Given the description of an element on the screen output the (x, y) to click on. 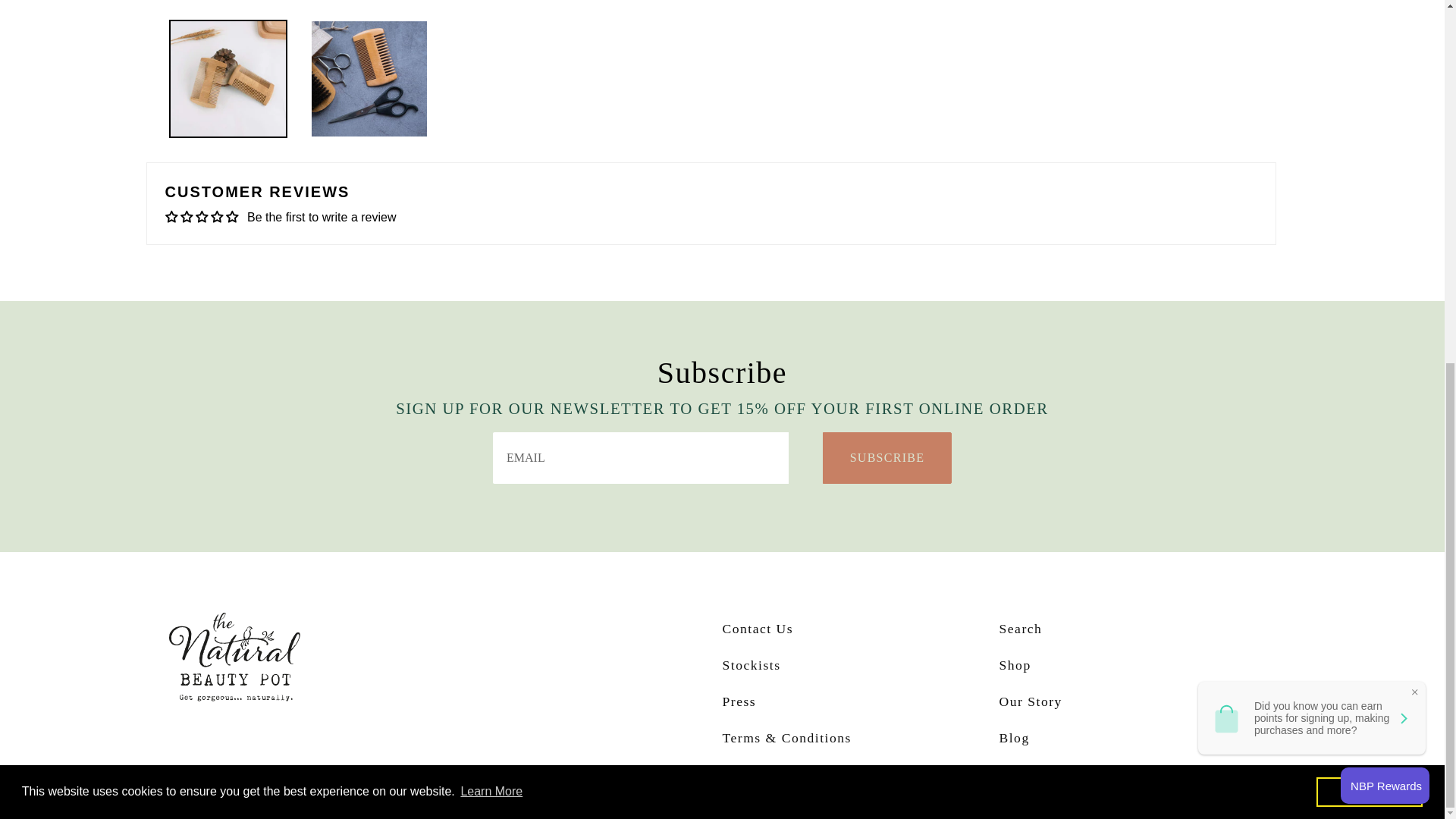
SUBSCRIBE (887, 458)
LoyaltyLion beacon (1384, 137)
Stockists (751, 664)
Contact Us (757, 628)
Press (738, 701)
Learn More (491, 143)
Got it! (1369, 143)
